Given the description of an element on the screen output the (x, y) to click on. 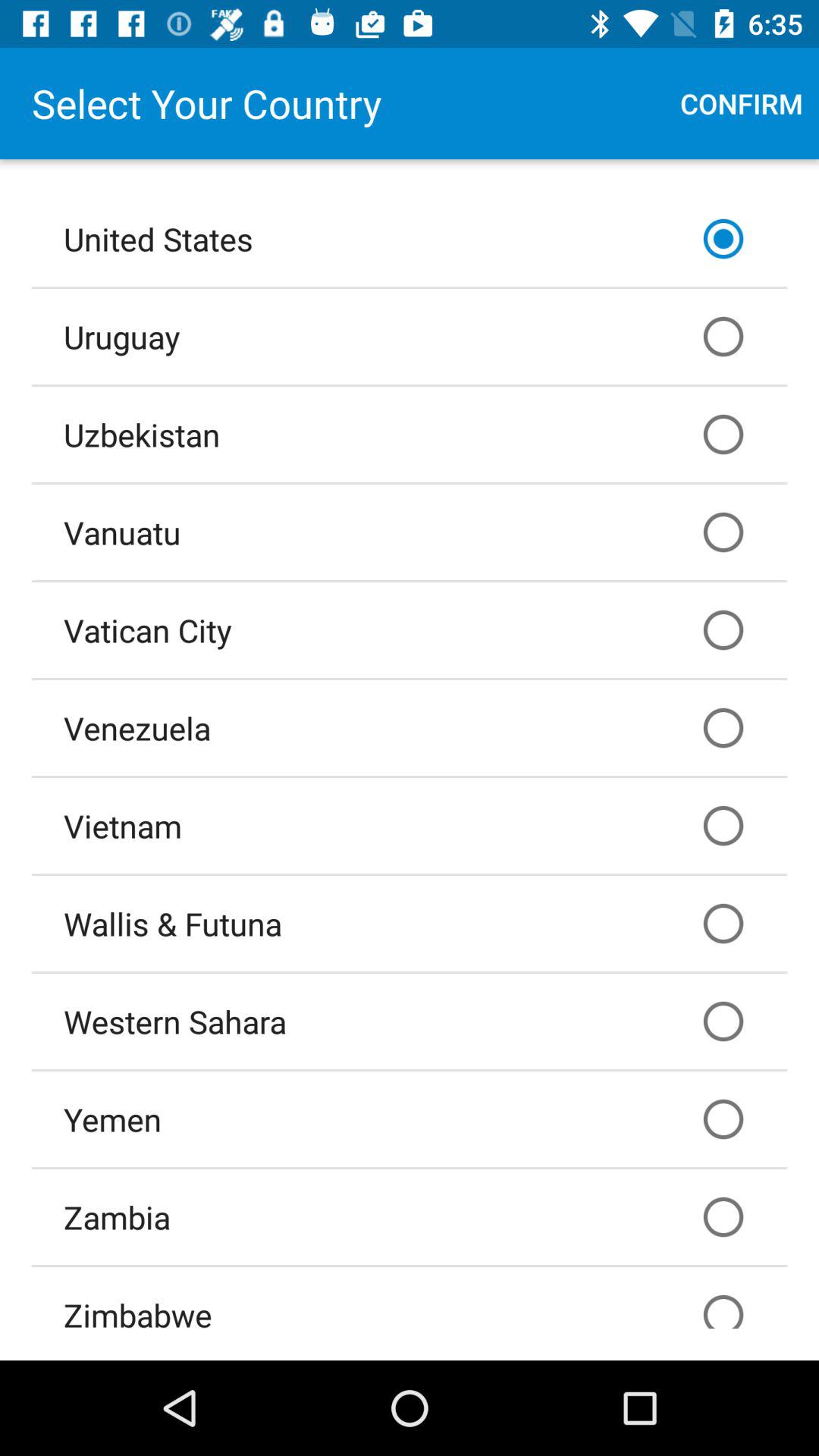
jump until the western sahara icon (409, 1021)
